Given the description of an element on the screen output the (x, y) to click on. 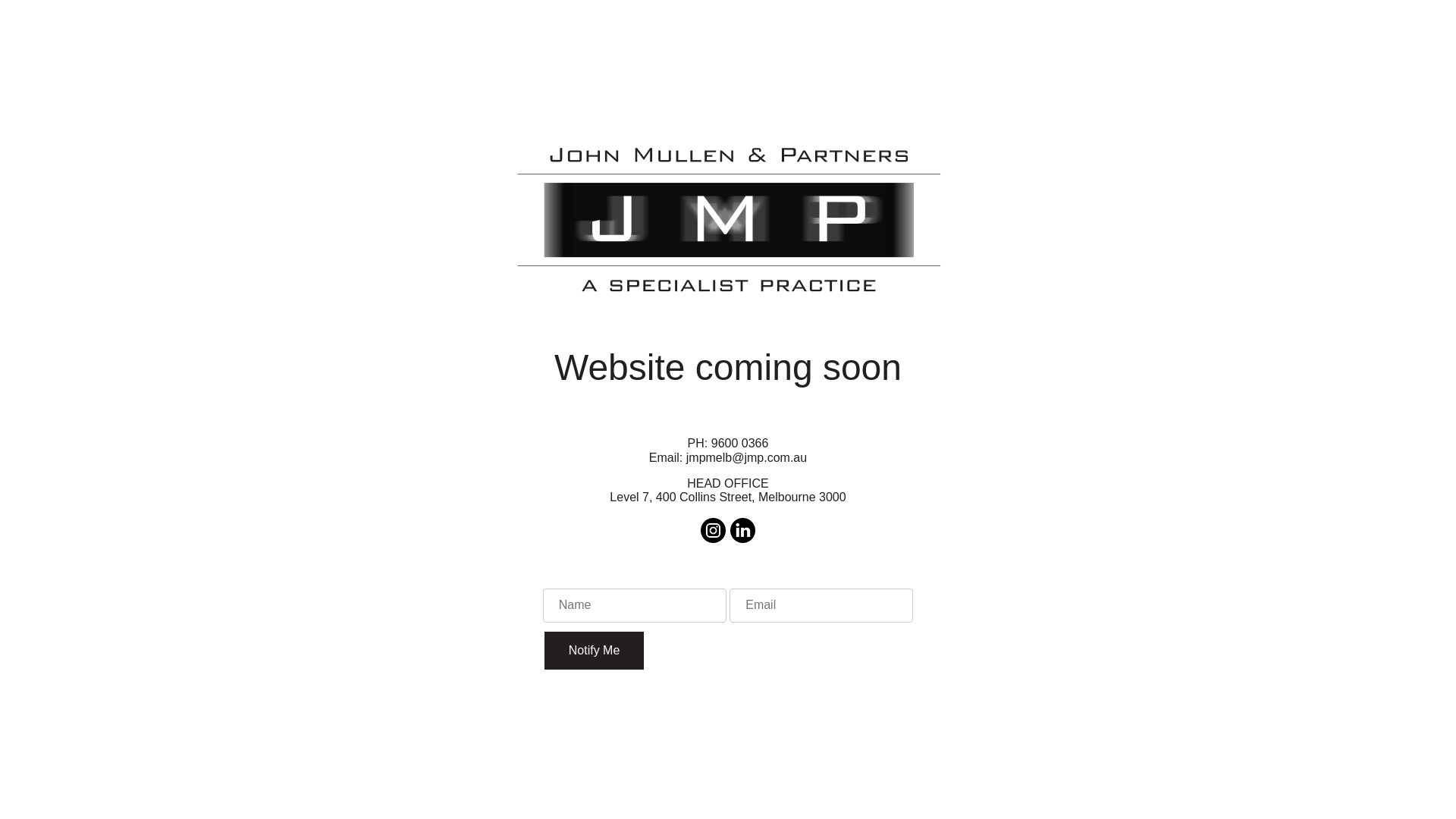
jmpmelb@jmp.com.au Element type: text (746, 457)
Notify Me Element type: text (594, 650)
9600 0366 Element type: text (739, 442)
